Given the description of an element on the screen output the (x, y) to click on. 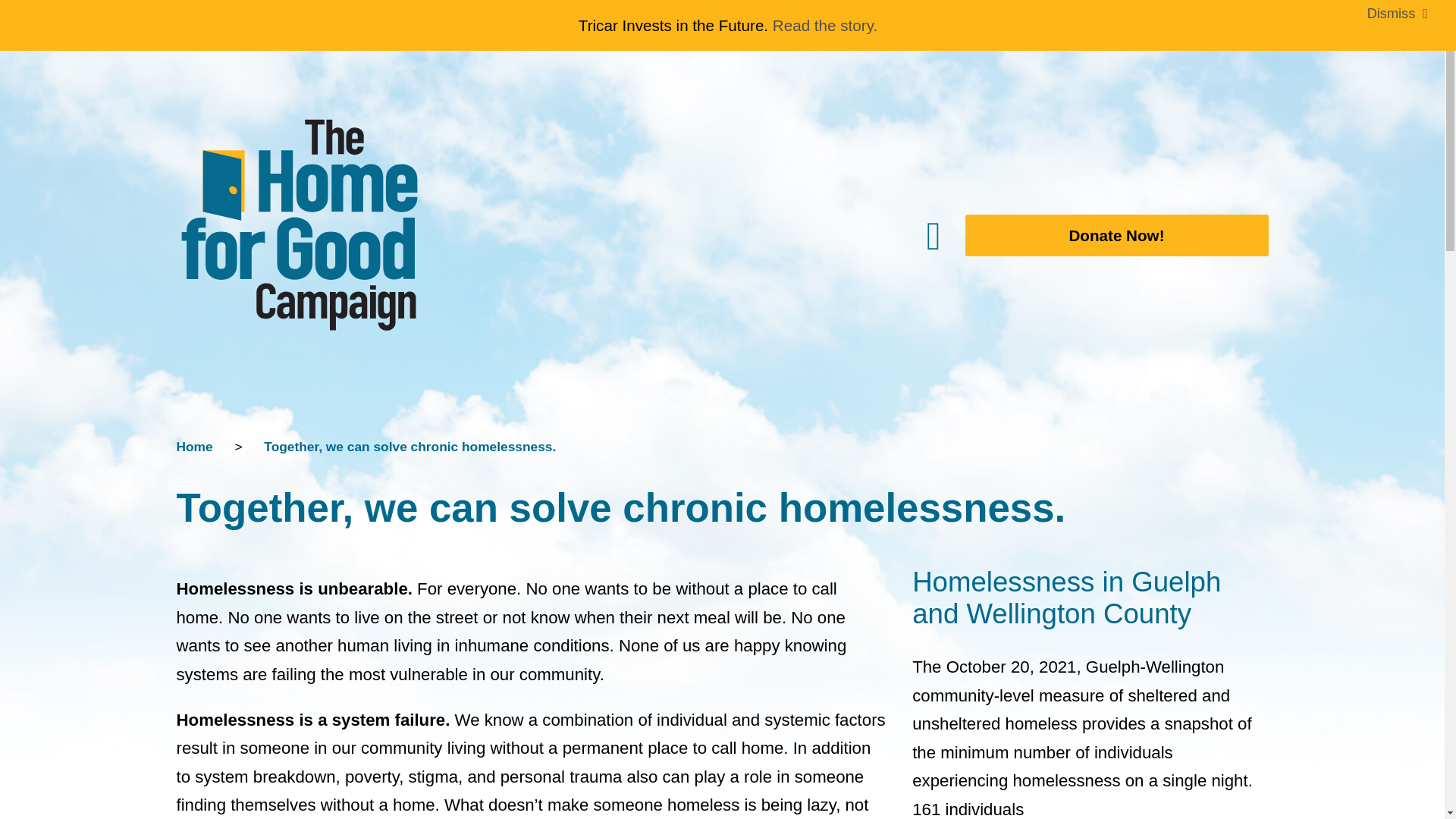
Read the story. (825, 25)
Dismiss    (1399, 13)
Home (194, 446)
Menu (776, 235)
Home (194, 446)
Donate Now! (1104, 235)
